Given the description of an element on the screen output the (x, y) to click on. 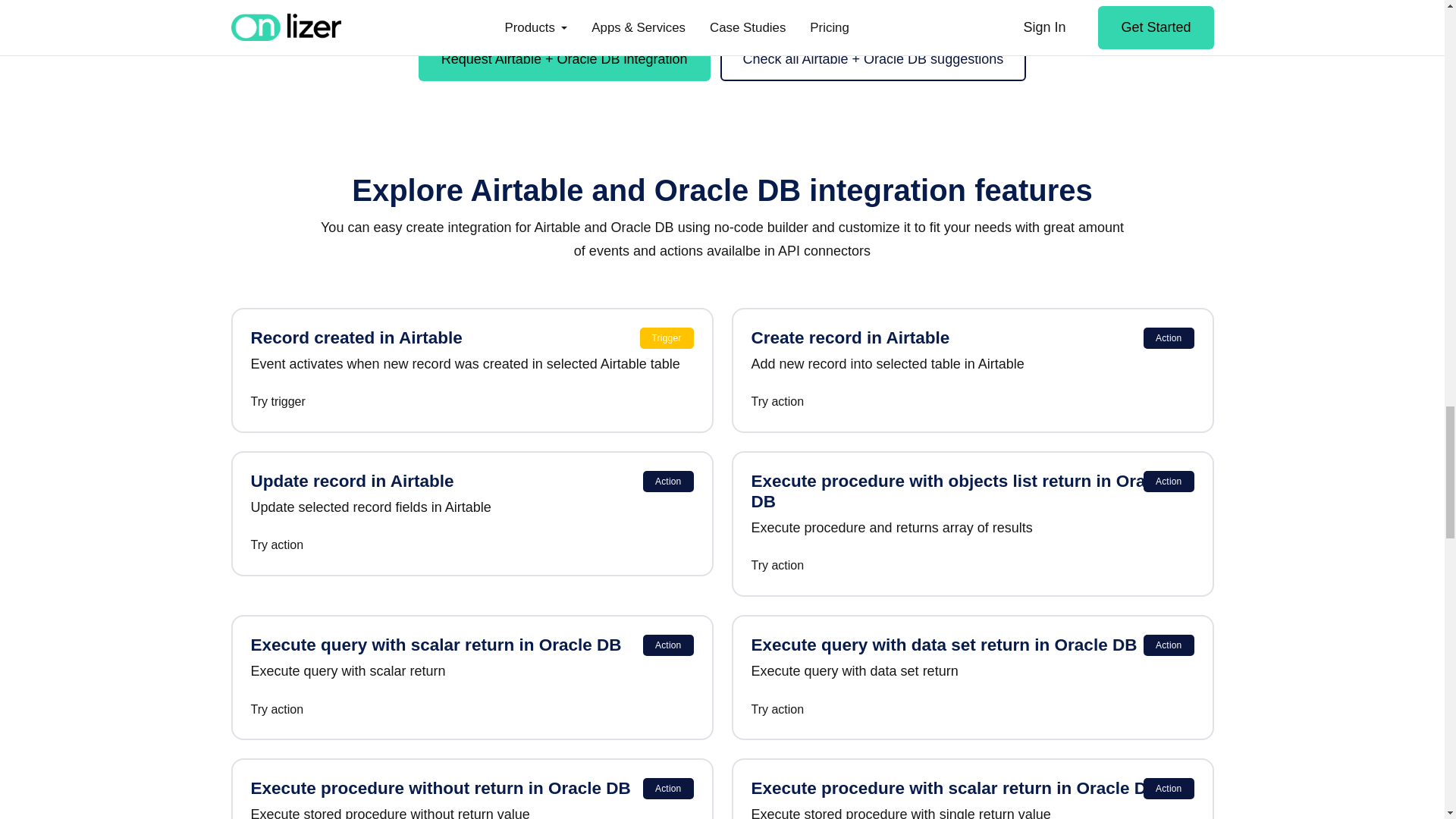
Try trigger (471, 402)
Try action (471, 545)
Try action (972, 566)
Try action (972, 710)
Try action (972, 402)
Try action (471, 710)
